Given the description of an element on the screen output the (x, y) to click on. 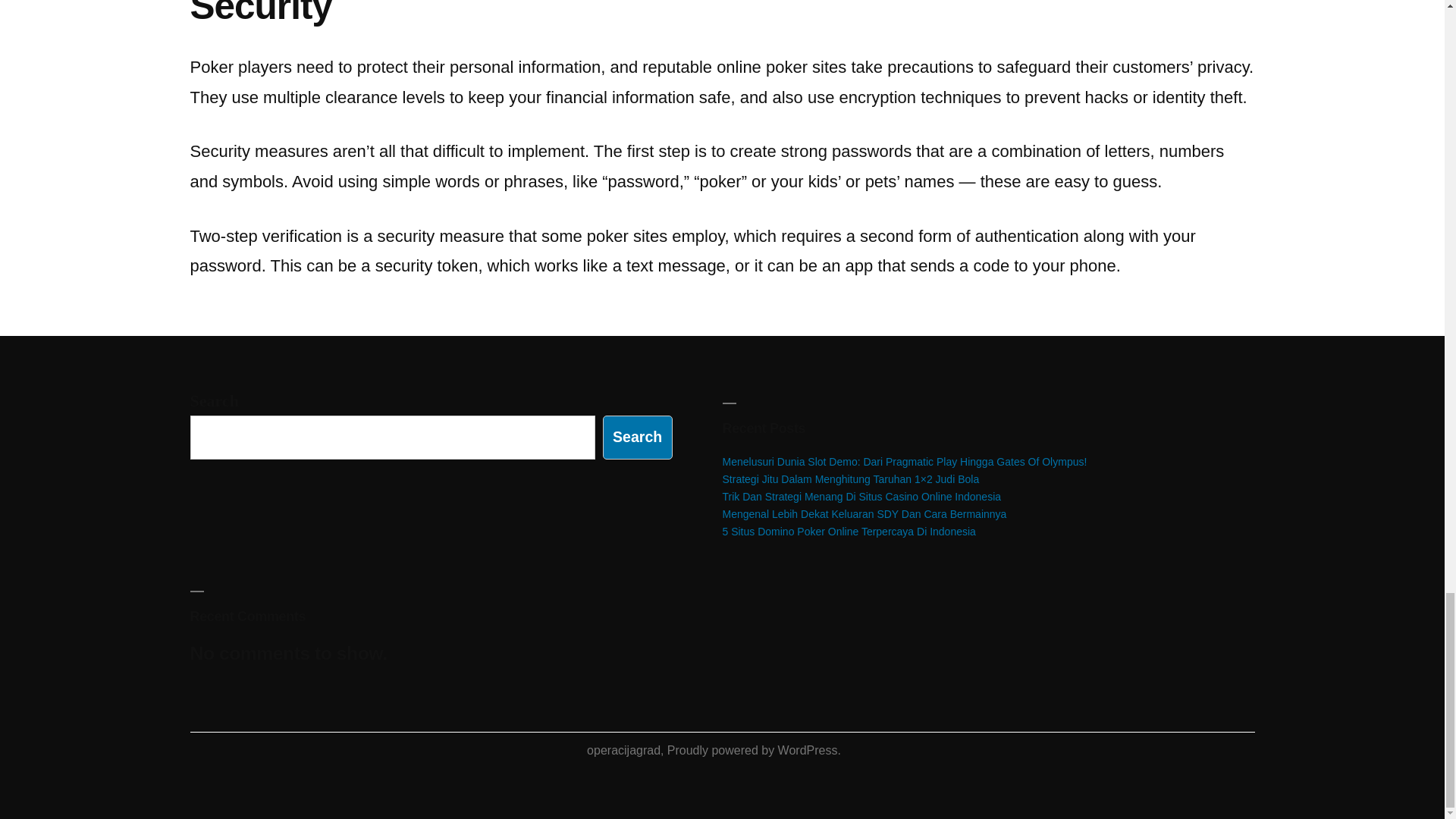
Proudly powered by WordPress. (753, 749)
Trik Dan Strategi Menang Di Situs Casino Online Indonesia (861, 496)
Search (637, 436)
Mengenal Lebih Dekat Keluaran SDY Dan Cara Bermainnya (864, 513)
5 Situs Domino Poker Online Terpercaya Di Indonesia (848, 531)
operacijagrad (623, 749)
